Given the description of an element on the screen output the (x, y) to click on. 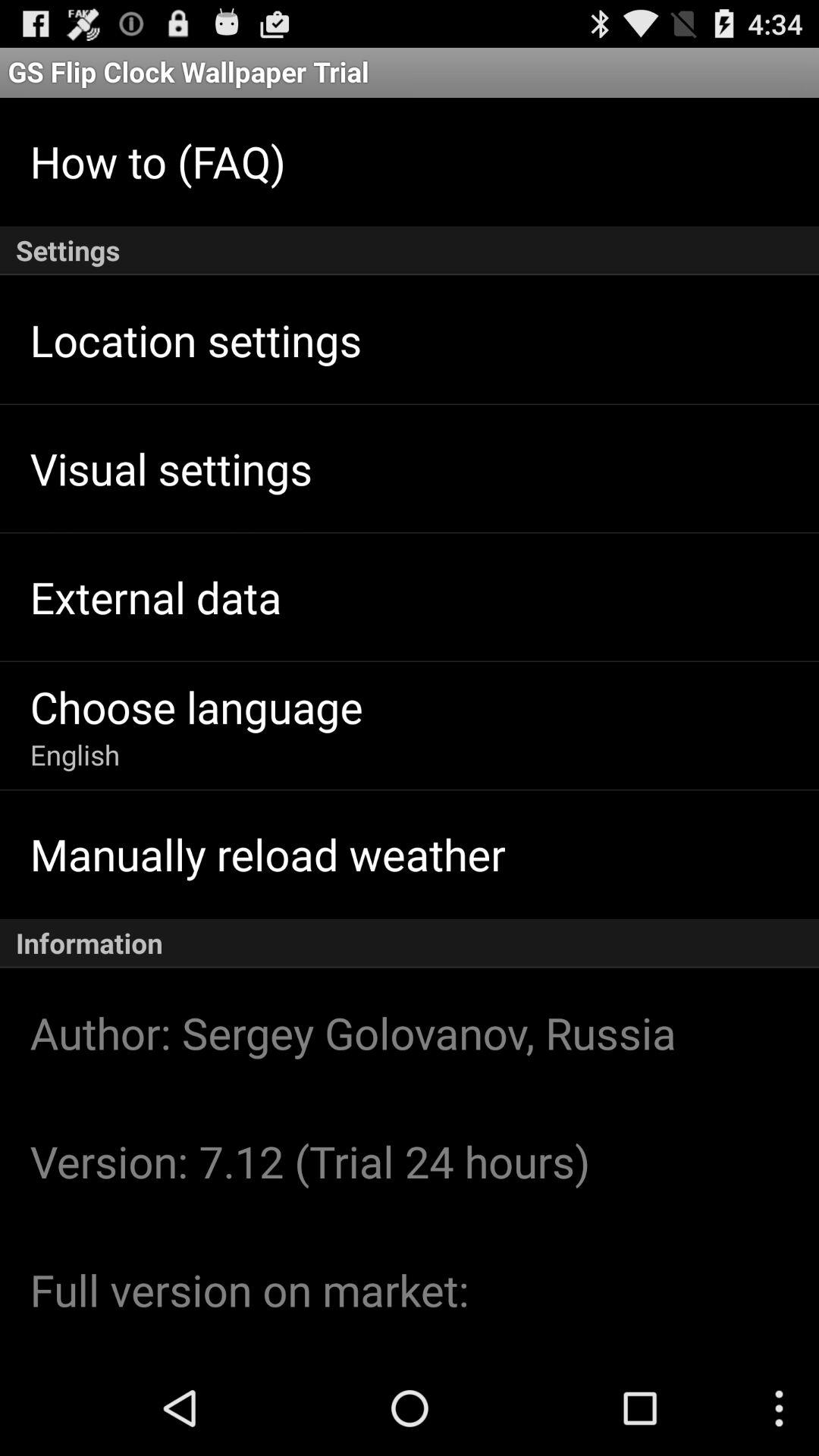
open the item below gs flip clock item (157, 160)
